Given the description of an element on the screen output the (x, y) to click on. 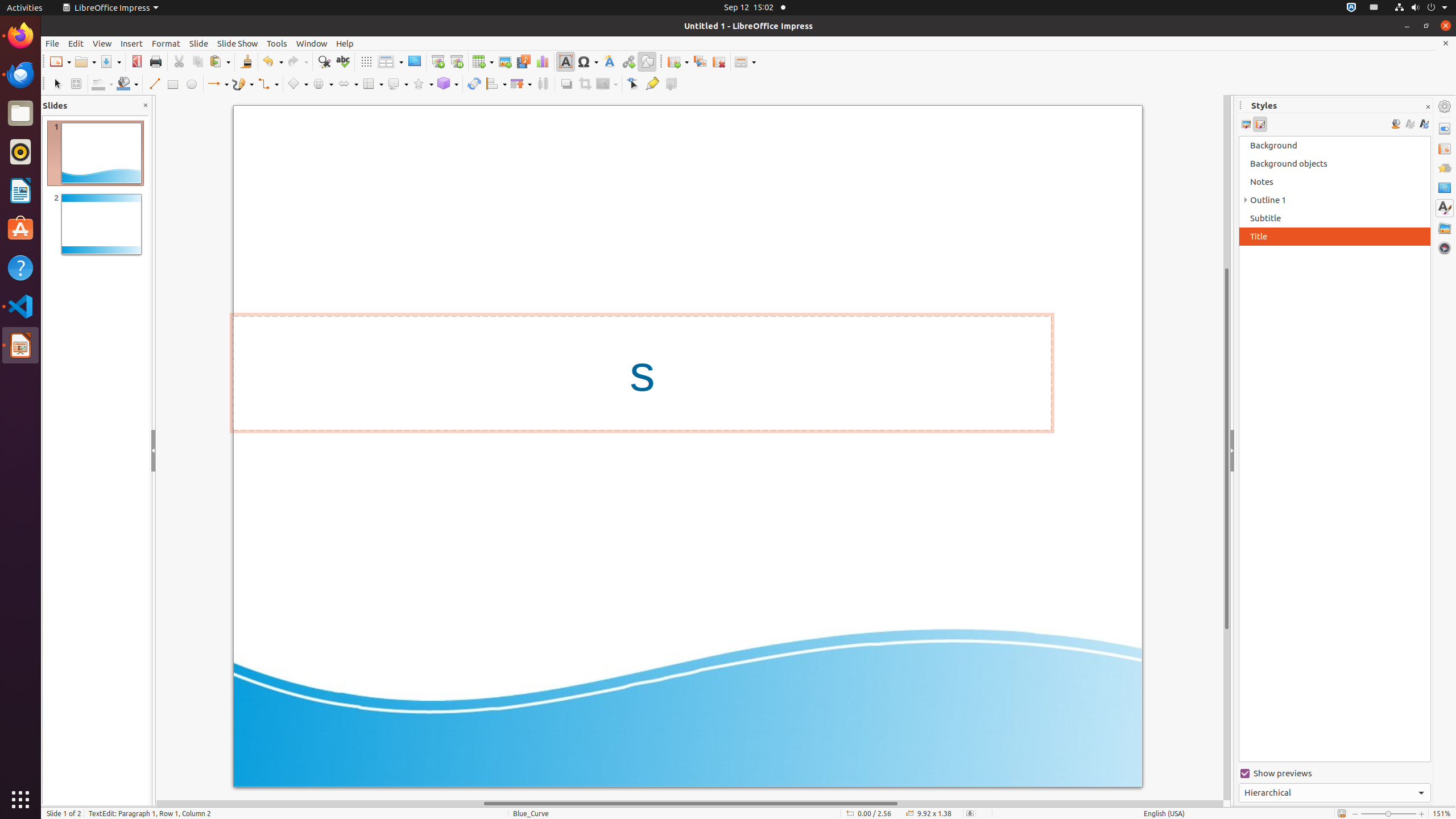
Styles Element type: radio-button (1444, 208)
Table Element type: push-button (482, 61)
Basic Shapes Element type: push-button (296, 83)
Find & Replace Element type: toggle-button (323, 61)
Paste Element type: push-button (219, 61)
